Given the description of an element on the screen output the (x, y) to click on. 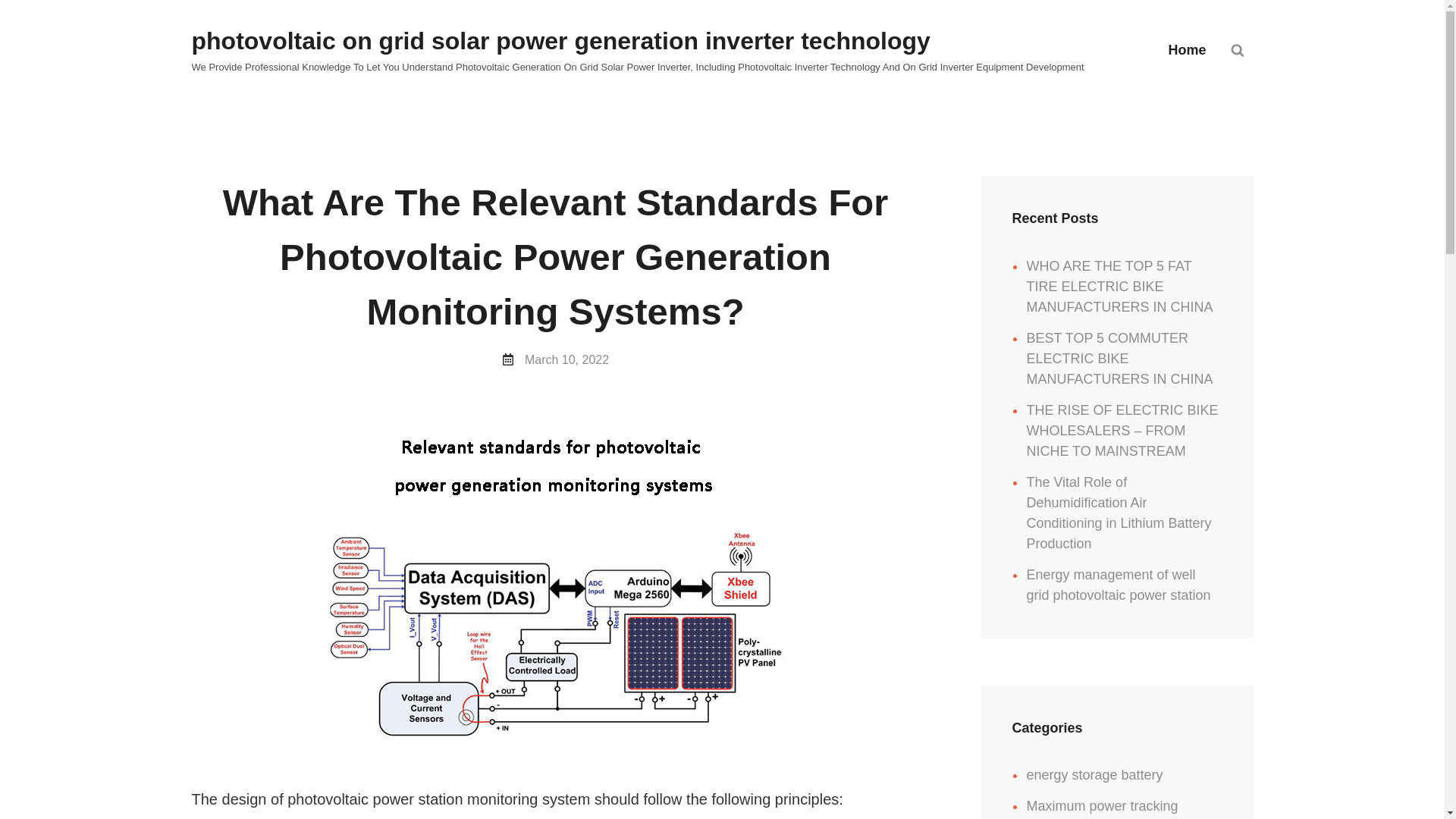
BEST TOP 5 COMMUTER ELECTRIC BIKE MANUFACTURERS IN CHINA (1119, 358)
March 10, 2022 (566, 359)
Home (1187, 50)
Energy management of well grid photovoltaic power station (1117, 584)
energy storage battery (1093, 774)
